Given the description of an element on the screen output the (x, y) to click on. 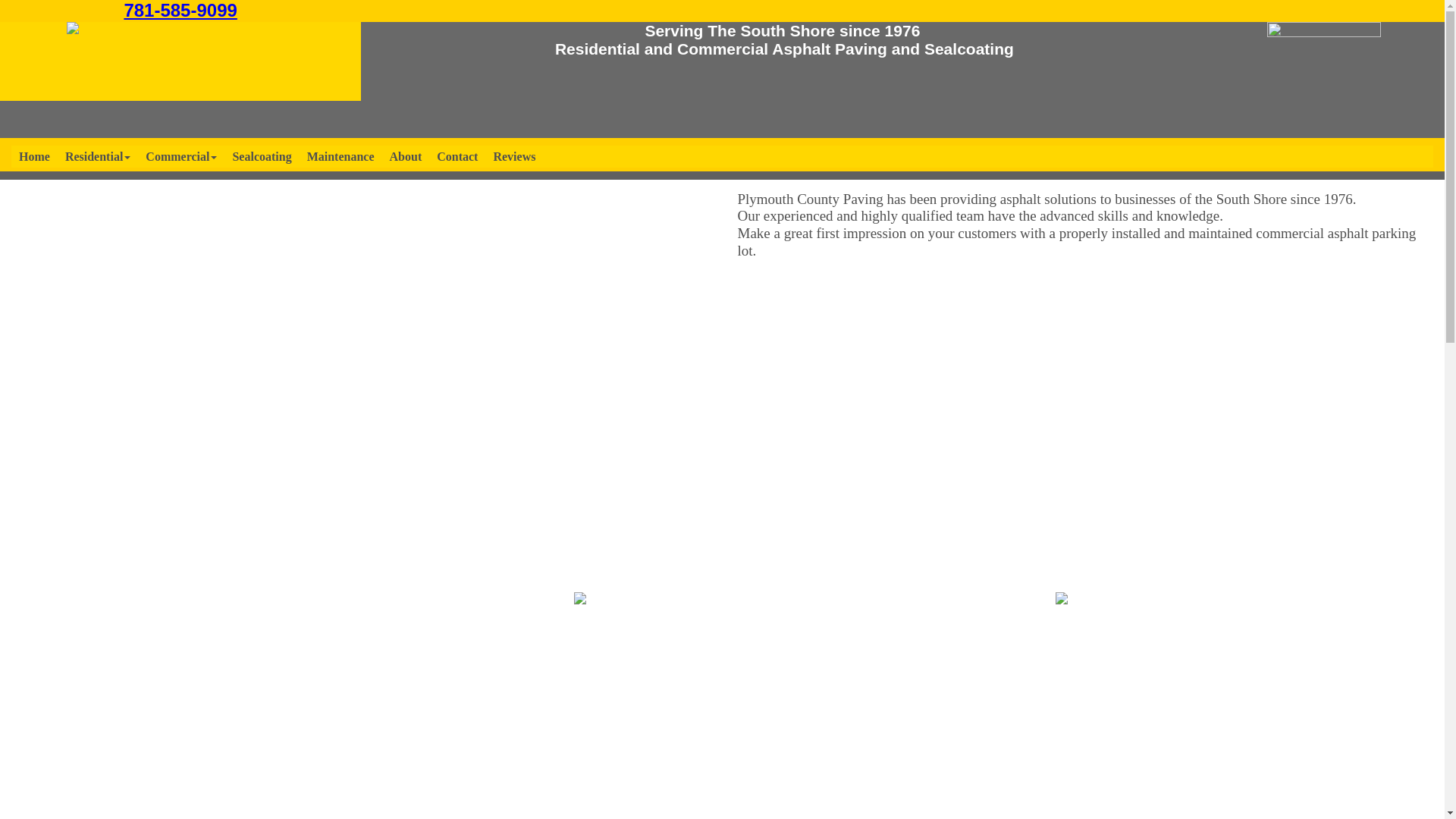
Commercial (181, 156)
781-585-9099 (179, 10)
Contact (456, 156)
About (405, 156)
Maintenance (340, 156)
Sealcoating (261, 156)
Residential (98, 156)
Reviews (513, 156)
Home (34, 156)
